Given the description of an element on the screen output the (x, y) to click on. 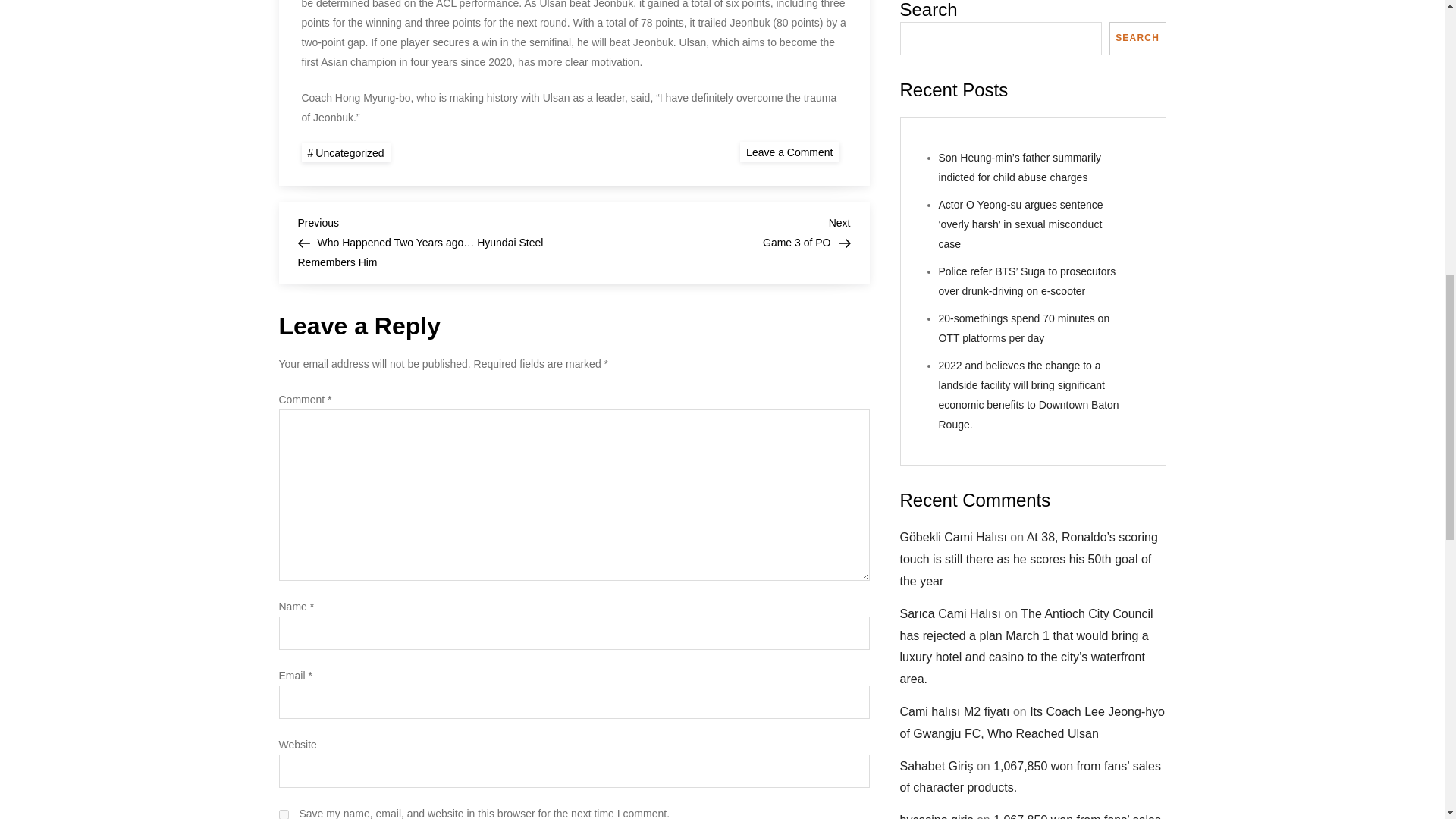
yes (283, 814)
bycasino giris (935, 91)
Uncategorized (345, 152)
Its Coach Lee Jeong-hyo of Gwangju FC, Who Reached Ulsan (711, 230)
